Given the description of an element on the screen output the (x, y) to click on. 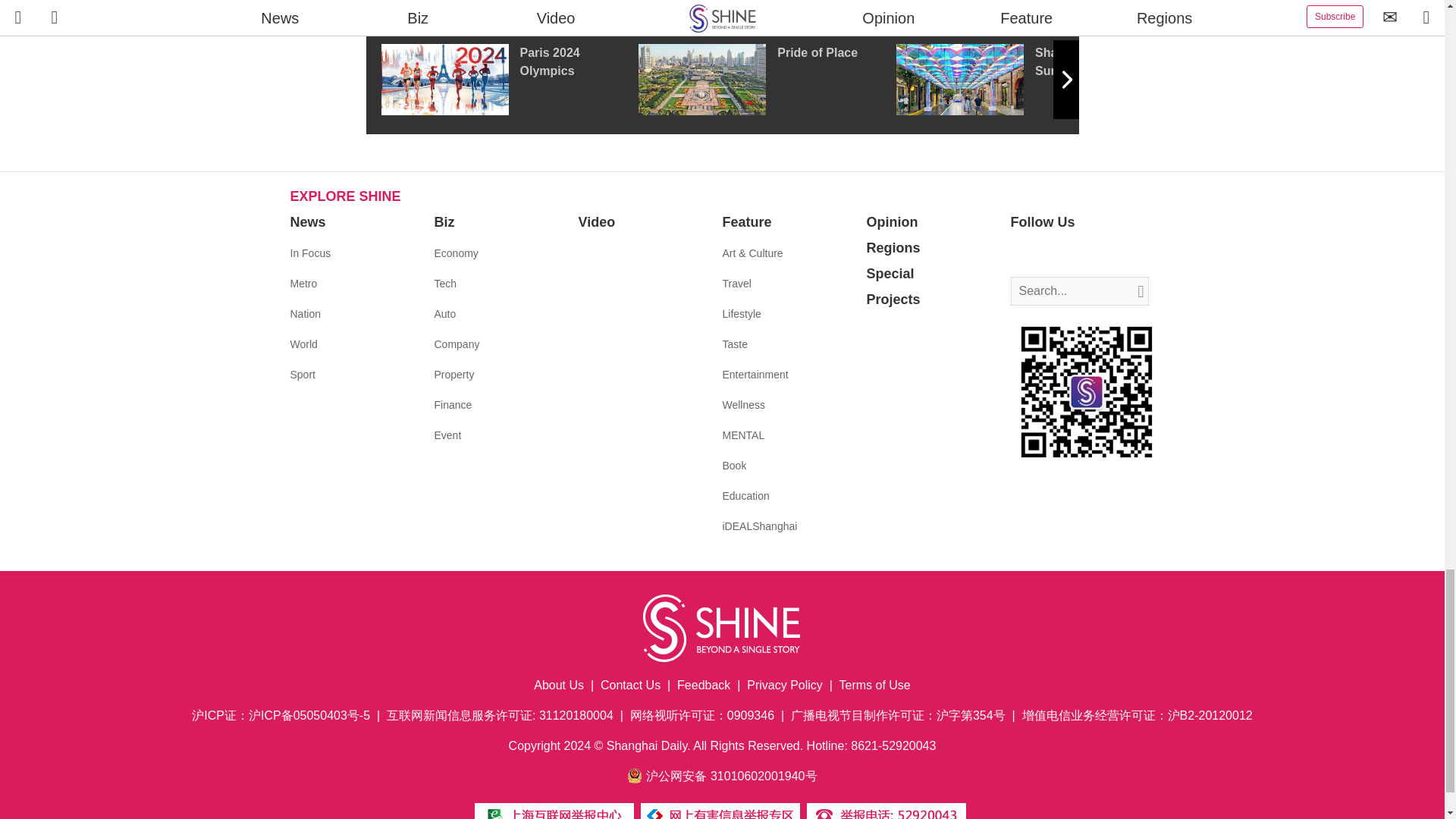
Follow us on Instagram (1067, 253)
Shanghai Summer (1024, 79)
Paris 2024 Olympics (508, 79)
Follow us on Wechat (1112, 253)
Pride of Place (767, 79)
Follow us on Facebook (1021, 253)
Follow us on Youtube (1090, 253)
Special Reports (721, 8)
Follow us on Twitter (1044, 253)
